Given the description of an element on the screen output the (x, y) to click on. 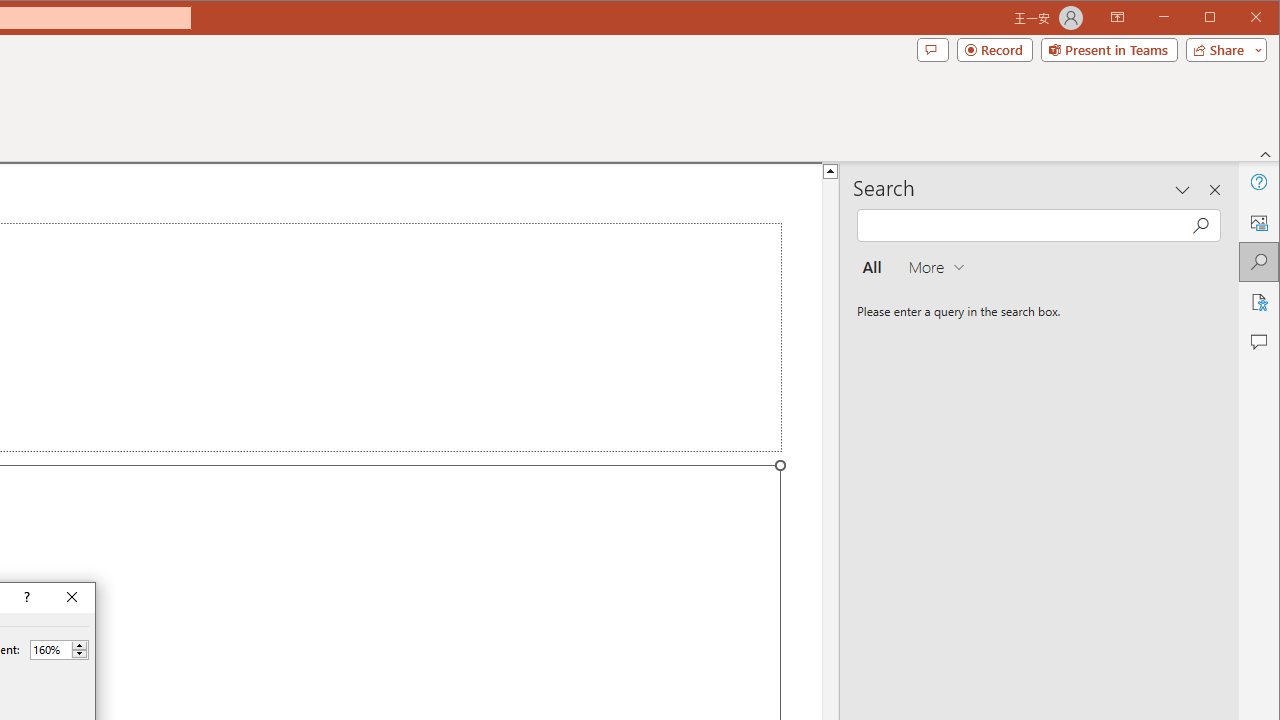
Less (79, 654)
Alt Text (1258, 221)
Maximize (1238, 18)
Percent (50, 649)
